Given the description of an element on the screen output the (x, y) to click on. 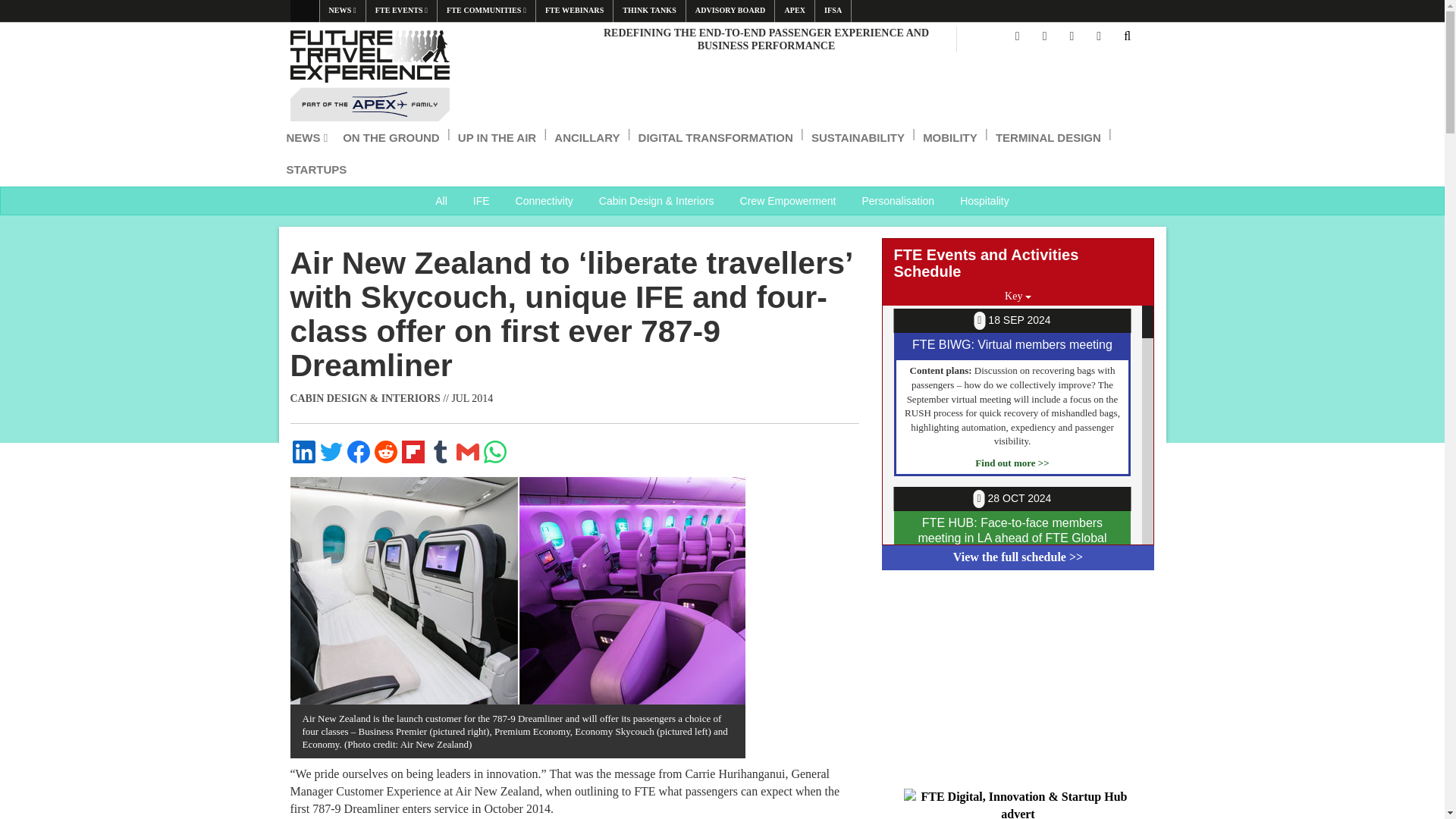
APEX (793, 11)
THINK TANKS (648, 11)
IFSA (832, 11)
FTE WEBINARS (573, 11)
FTE EVENTS (401, 11)
FTE COMMUNITIES (486, 11)
ADVISORY BOARD (729, 11)
NEWS (342, 11)
